Given the description of an element on the screen output the (x, y) to click on. 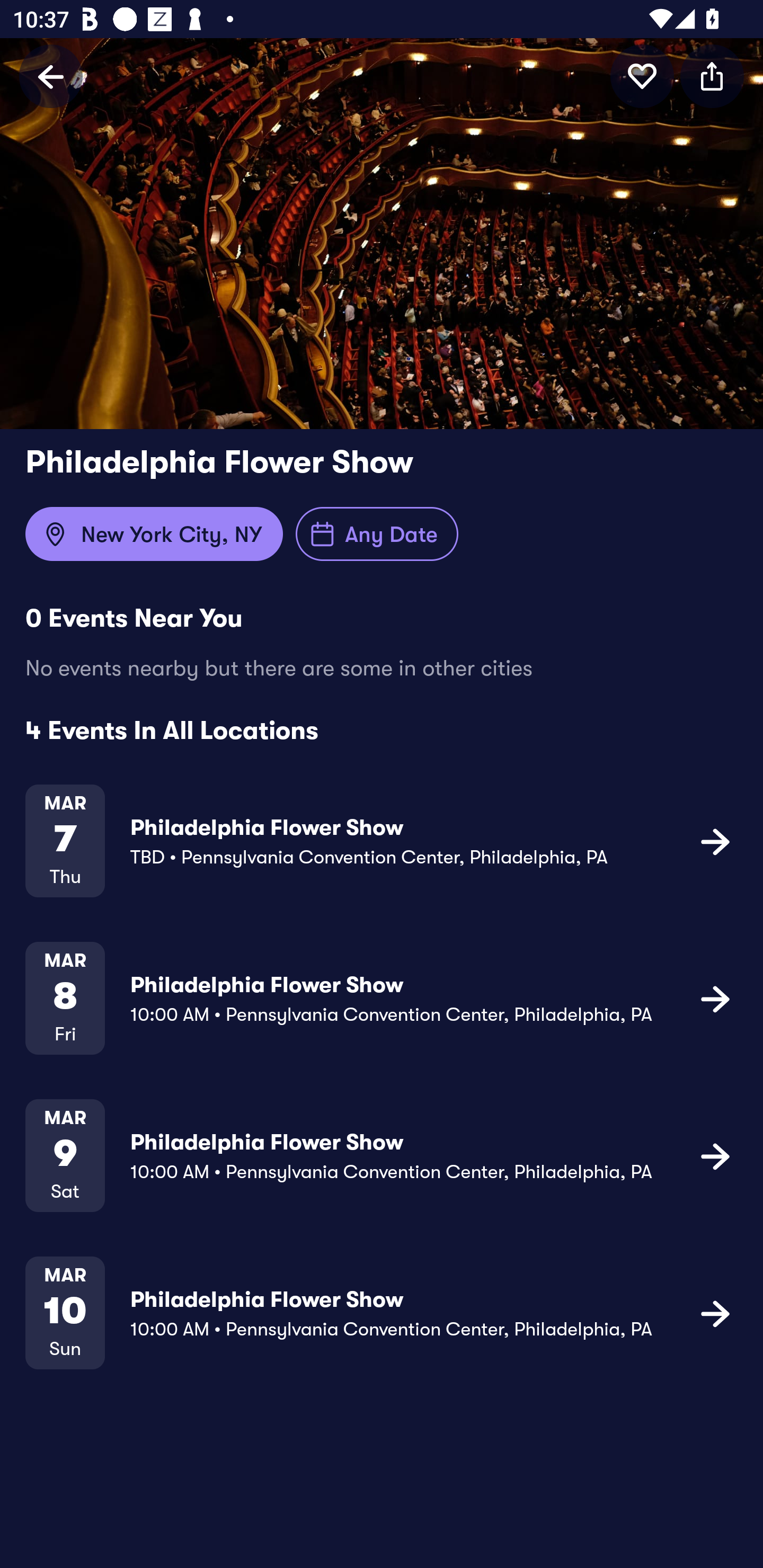
Back (50, 75)
icon button (641, 75)
icon button (711, 75)
New York City, NY (153, 533)
Any Date (377, 533)
icon button (714, 840)
icon button (714, 998)
icon button (714, 1155)
icon button (714, 1312)
